Given the description of an element on the screen output the (x, y) to click on. 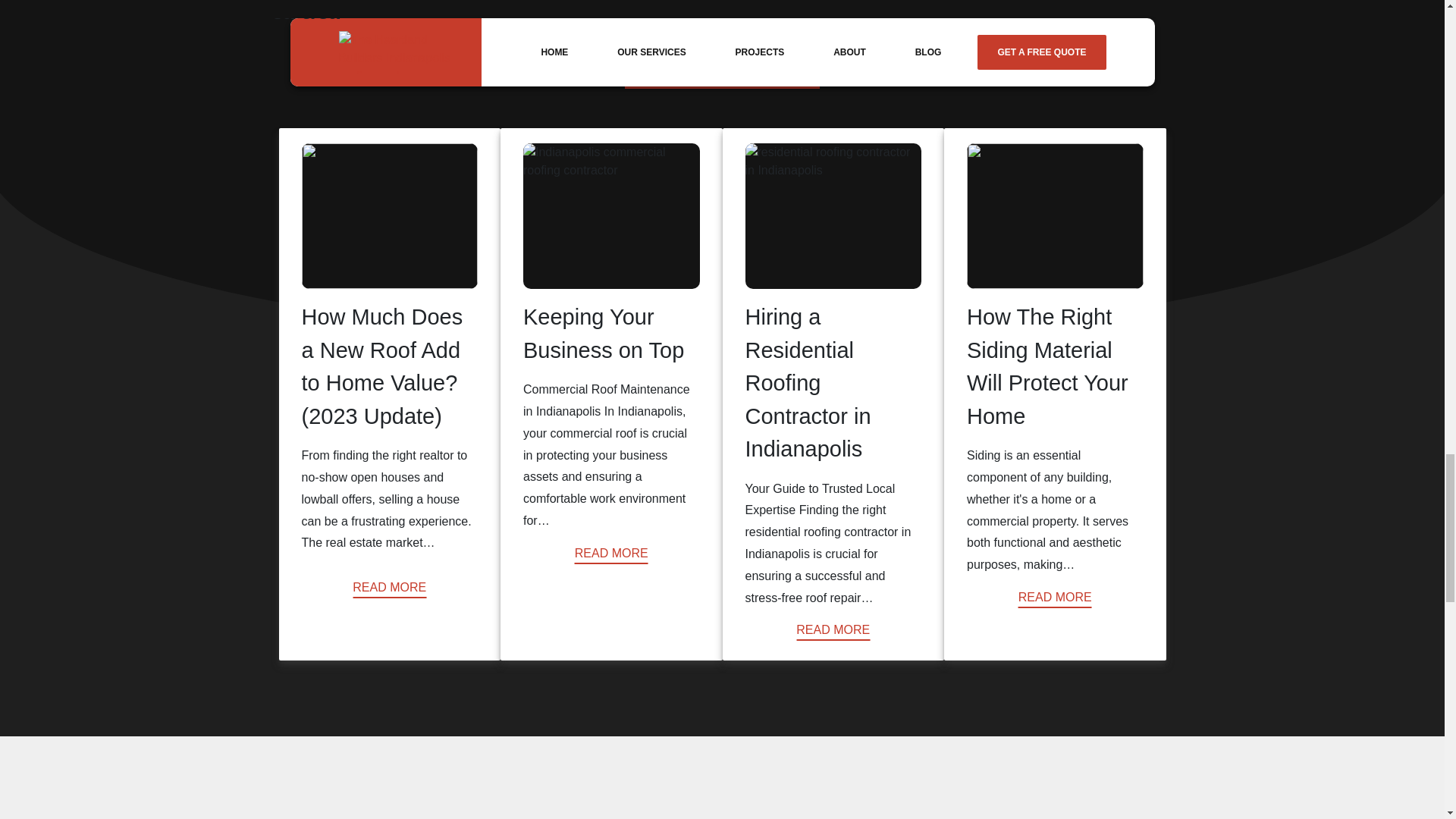
READ MORE (1054, 597)
READ MORE (832, 629)
READ MORE (389, 587)
READ MORE (611, 553)
